Given the description of an element on the screen output the (x, y) to click on. 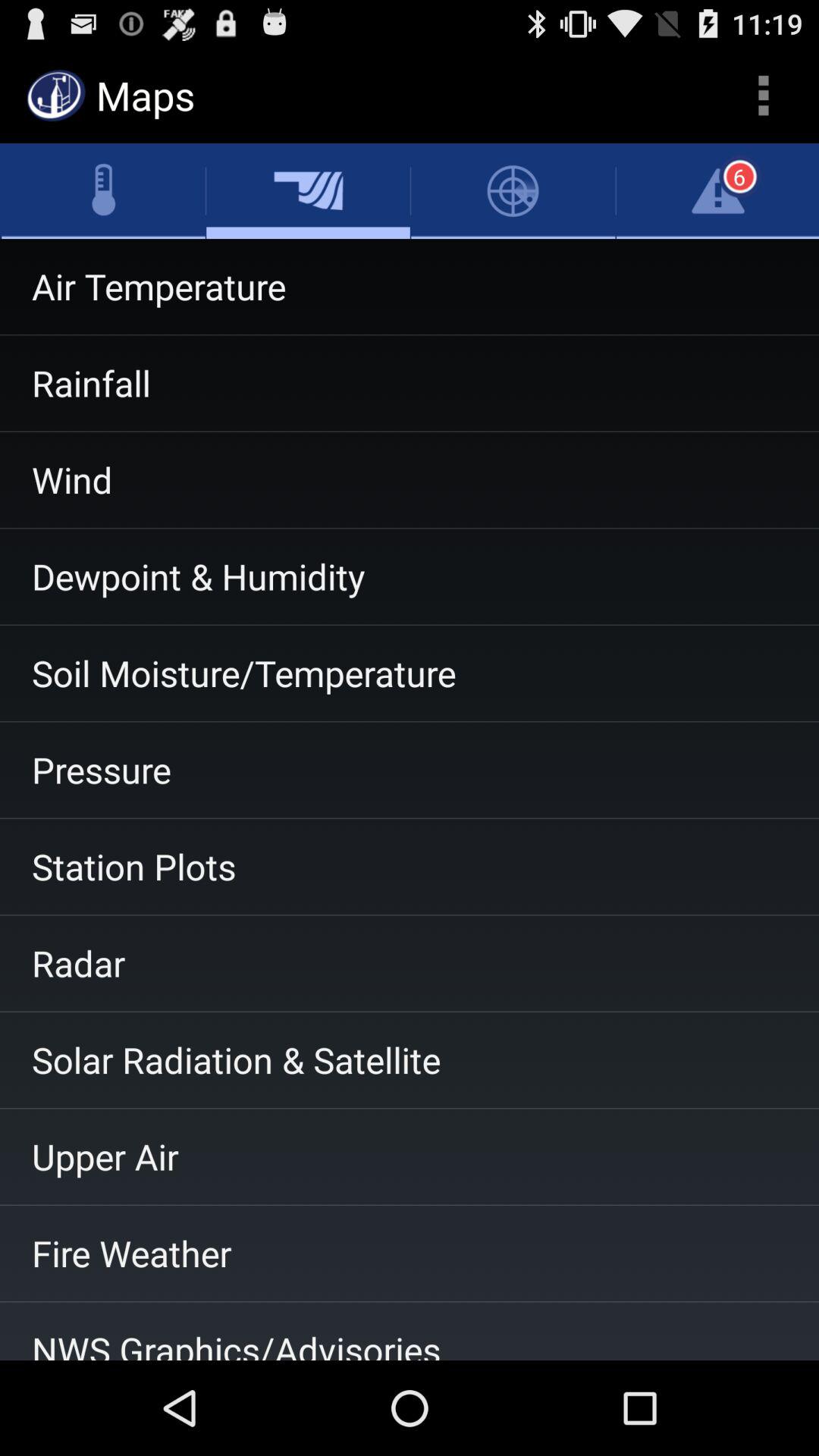
jump until fire weather item (409, 1253)
